Given the description of an element on the screen output the (x, y) to click on. 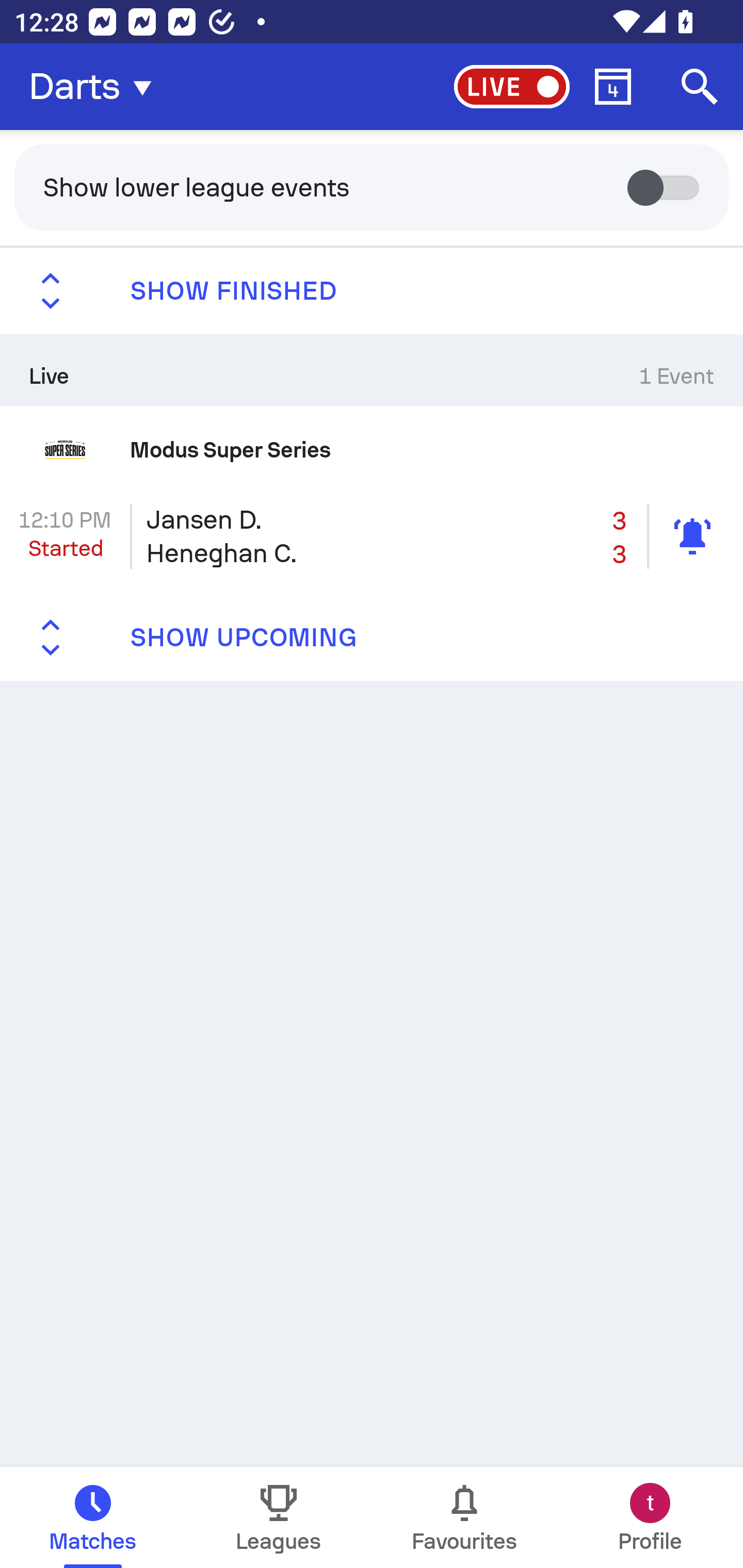
Darts (96, 86)
Calendar (612, 86)
Search (699, 86)
Show lower league events (371, 187)
SHOW FINISHED (371, 290)
Live 1 Event (371, 369)
Modus Super Series (371, 449)
12:10 PM Started Jansen D. 3 Heneghan C. 3 (371, 536)
SHOW UPCOMING (371, 637)
Leagues (278, 1517)
Favourites (464, 1517)
Profile (650, 1517)
